Given the description of an element on the screen output the (x, y) to click on. 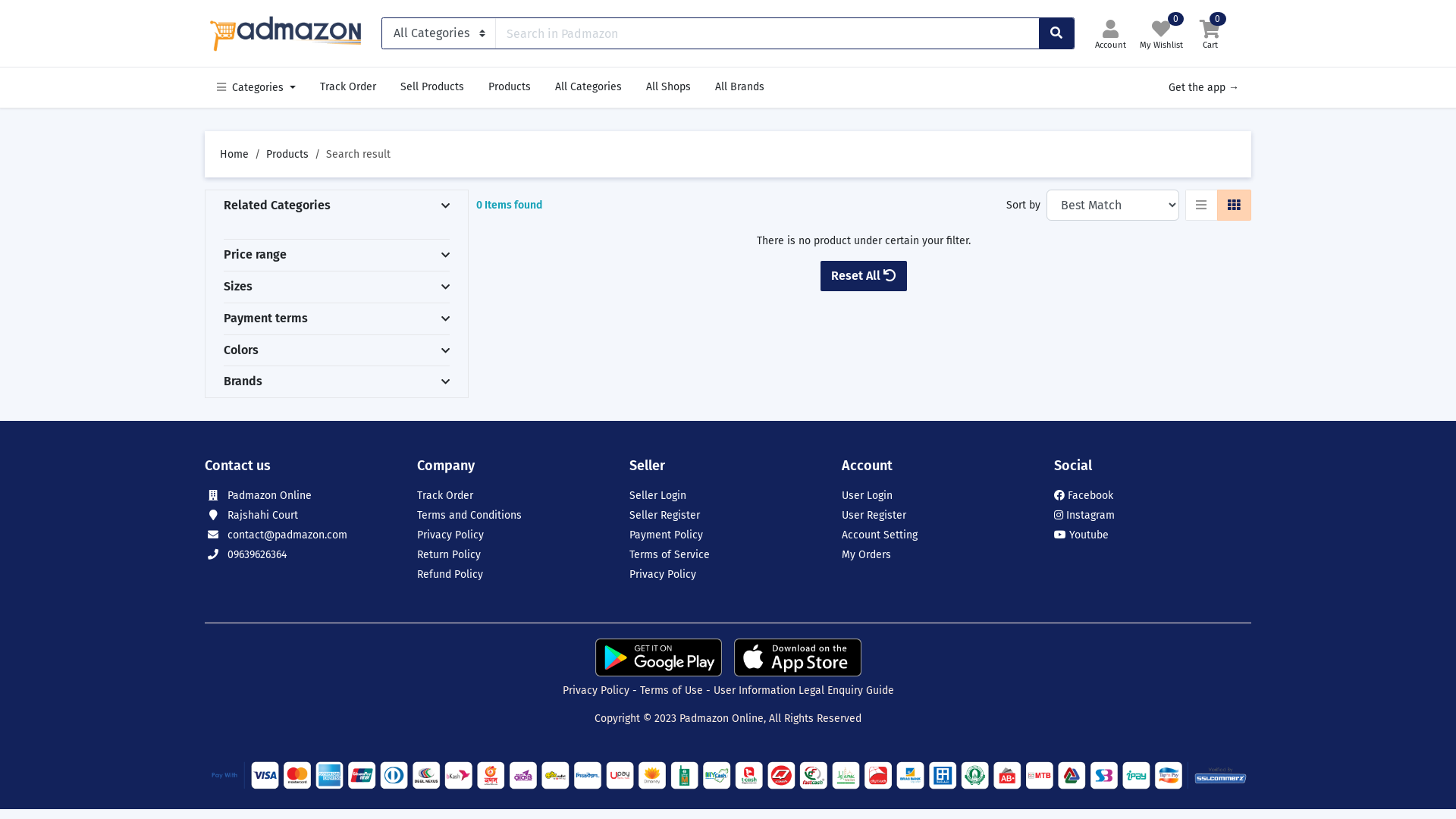
Account Setting Element type: text (879, 534)
Refund Policy Element type: text (450, 573)
Seller Login Element type: text (657, 495)
Terms and Conditions Element type: text (469, 514)
Products Element type: text (287, 153)
Products Element type: text (509, 86)
Payment terms Element type: text (265, 317)
contact@padmazon.com Element type: text (287, 534)
Privacy Policy Element type: text (450, 534)
User Register Element type: text (873, 514)
Track Order Element type: text (347, 86)
Payment Policy Element type: text (665, 534)
Colors Element type: text (240, 349)
All Shops Element type: text (667, 86)
All Categories Element type: text (587, 86)
Seller Register Element type: text (664, 514)
09639626364 Element type: text (256, 554)
Categories Element type: text (255, 87)
Track Order Element type: text (445, 495)
Privacy Policy Element type: text (595, 690)
Brands Element type: text (242, 380)
Return Policy Element type: text (448, 554)
0
My Wishlist Element type: text (1161, 32)
Youtube Element type: text (1081, 534)
Account Element type: text (1110, 32)
grid Element type: text (1234, 204)
Terms of Service Element type: text (669, 554)
Privacy Policy Element type: text (662, 573)
Sell Products Element type: text (432, 86)
Home Element type: text (233, 153)
0
Cart Element type: text (1210, 32)
User Login Element type: text (866, 495)
Sizes Element type: text (237, 286)
Reset All Element type: text (863, 275)
My Orders Element type: text (866, 554)
Facebook Element type: text (1083, 495)
All Brands Element type: text (739, 86)
Instagram Element type: text (1084, 514)
Terms of Use - User Information Legal Enquiry Guide Element type: text (767, 690)
Price range Element type: text (254, 254)
Related Categories Element type: text (276, 204)
list Element type: text (1201, 204)
